Given the description of an element on the screen output the (x, y) to click on. 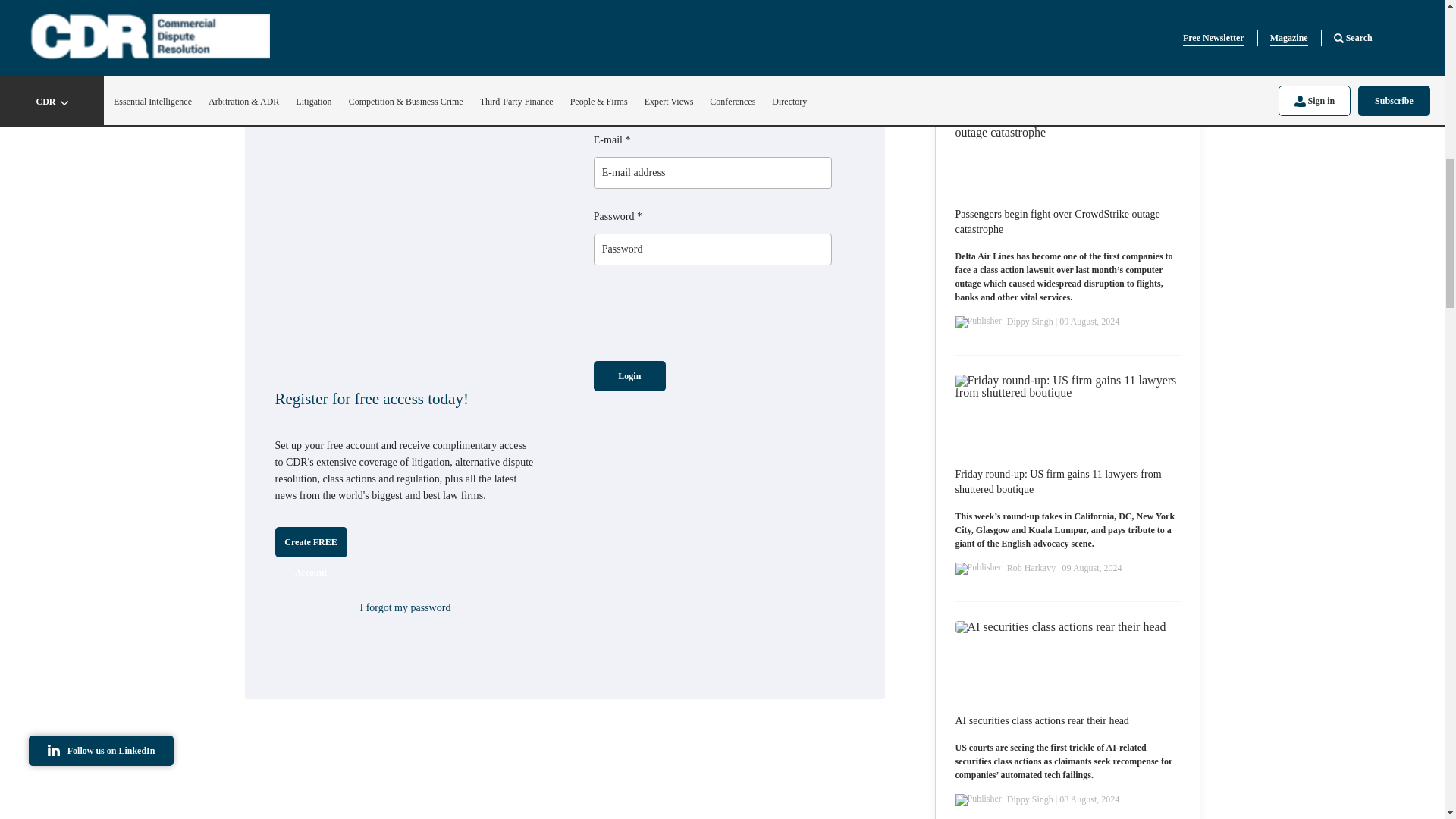
I forgot my password (404, 607)
Login (629, 376)
Create FREE Account (310, 542)
